Given the description of an element on the screen output the (x, y) to click on. 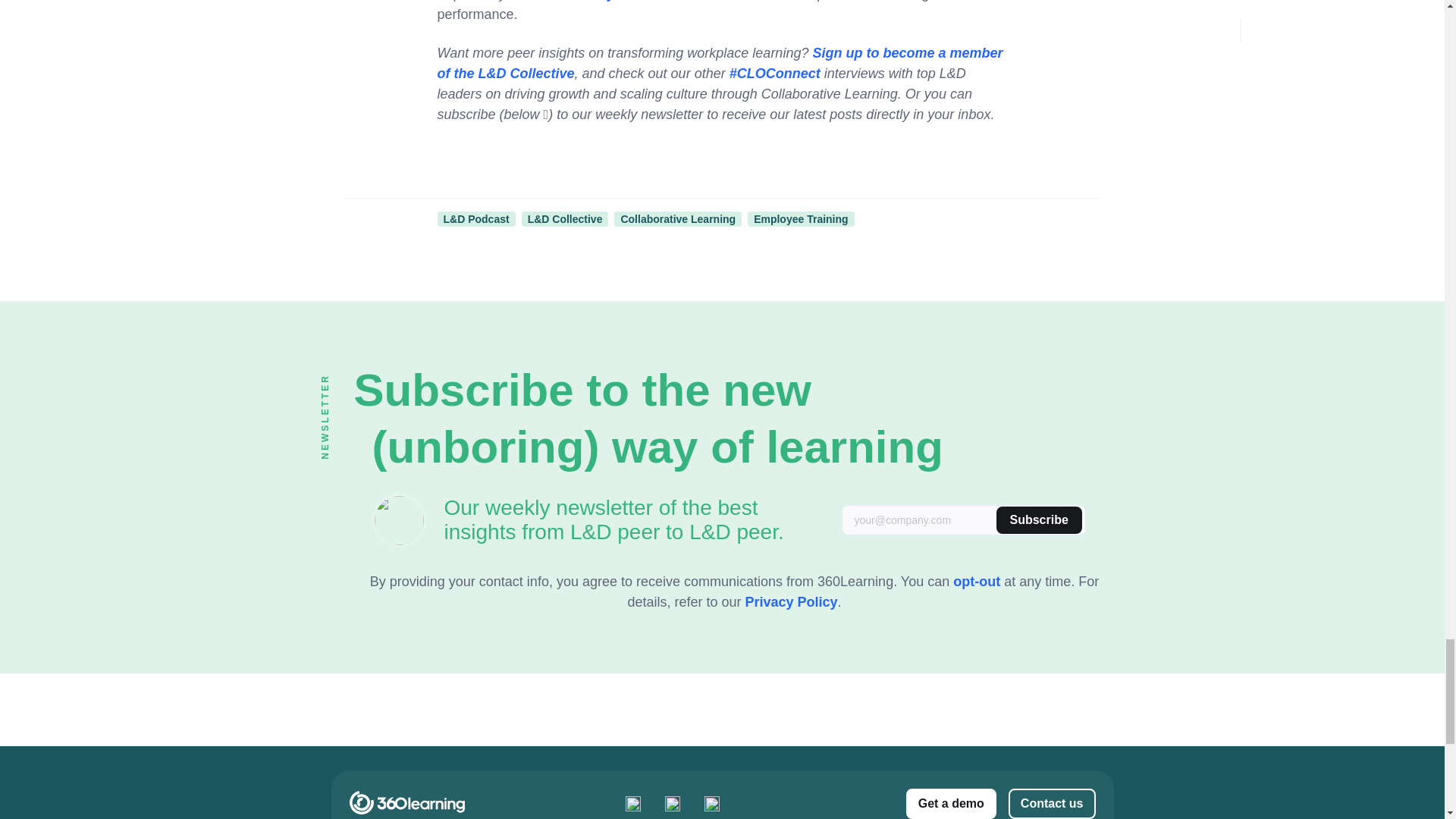
Subscribe (1038, 519)
Collaborative Learning (677, 218)
Employee Training (800, 218)
Contact us (1052, 803)
Privacy Policy (790, 601)
Get a demo (950, 803)
opt-out (976, 581)
Guy Wallace (628, 0)
